Given the description of an element on the screen output the (x, y) to click on. 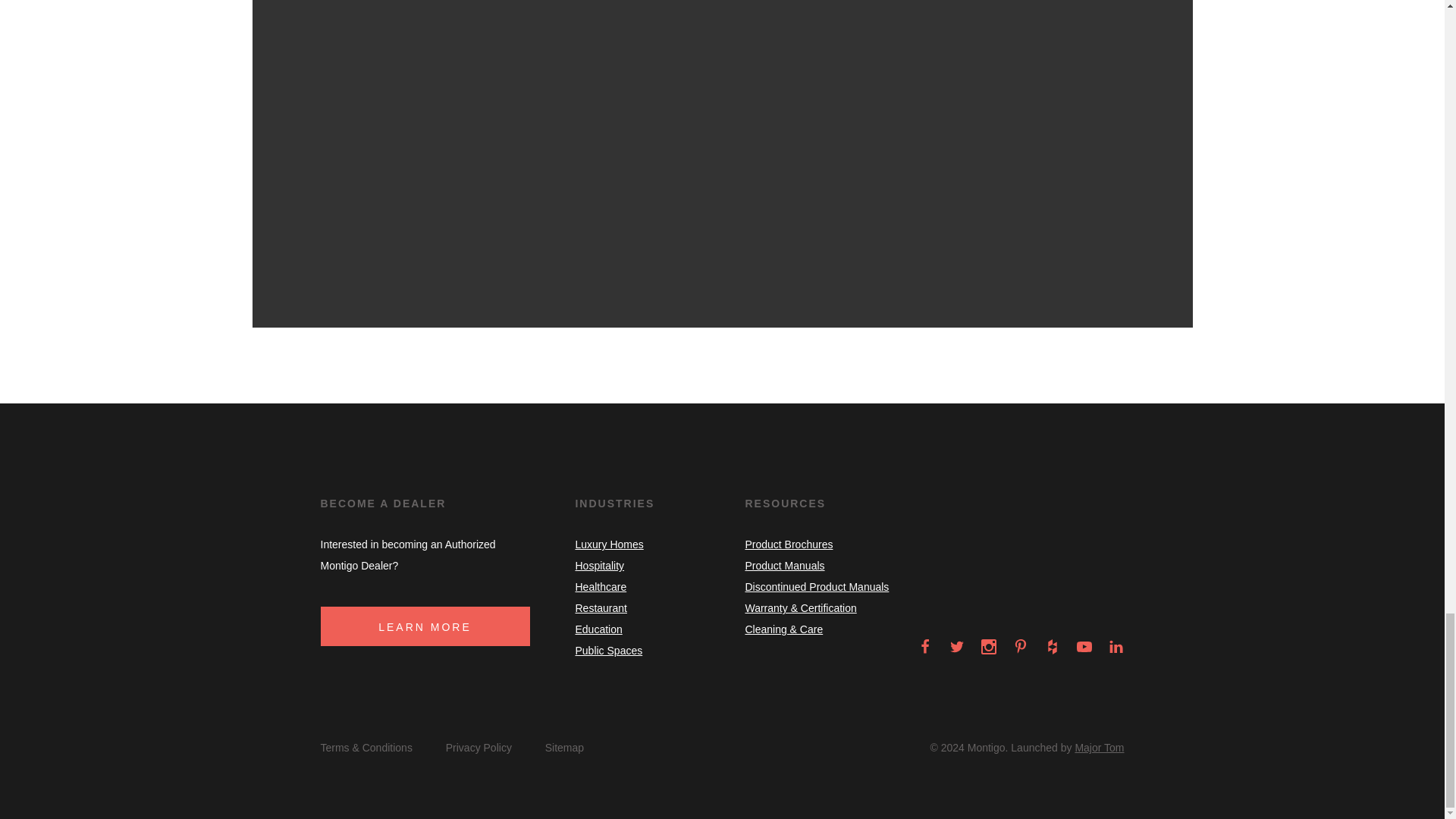
Montigo - the art of fireplaces  (1069, 598)
